Given the description of an element on the screen output the (x, y) to click on. 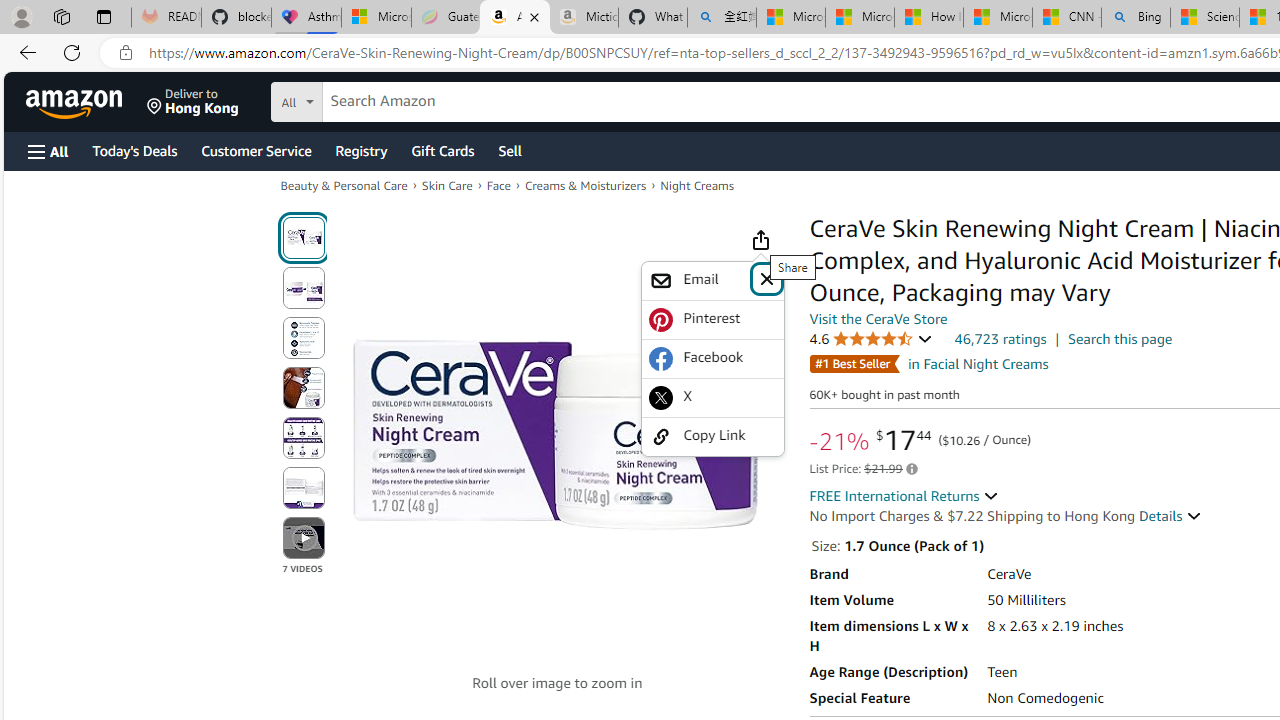
Close Share Popup (766, 277)
